Given the description of an element on the screen output the (x, y) to click on. 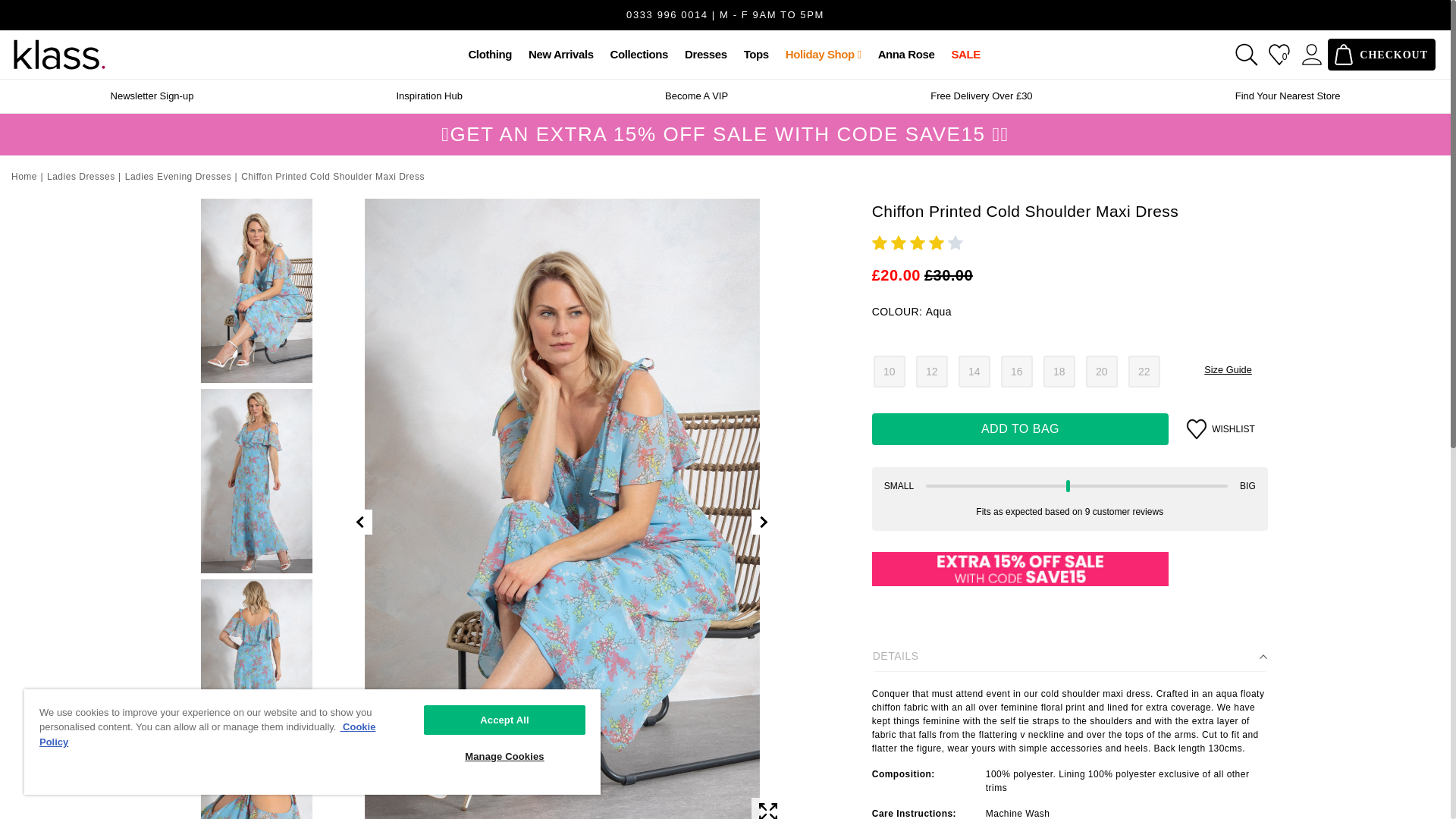
Login (1311, 54)
Clothing (489, 54)
View your Basket (1381, 54)
Chiffon Printed Cold Shoulder Maxi Dress (1070, 210)
View your Wishlist (1278, 54)
New Arrivals (561, 54)
